Given the description of an element on the screen output the (x, y) to click on. 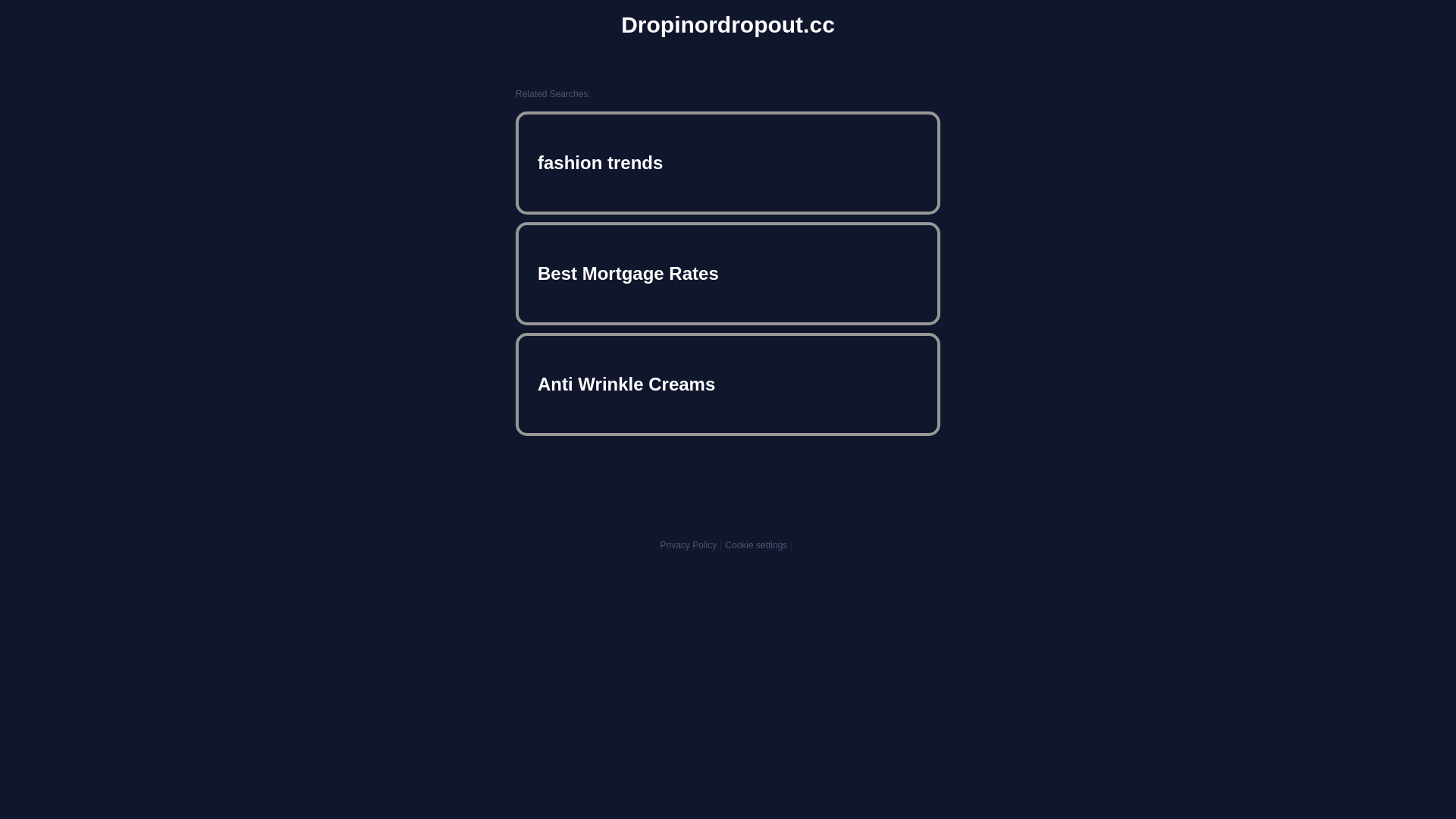
Cookie settings Element type: text (755, 544)
Privacy Policy Element type: text (687, 544)
Anti Wrinkle Creams Element type: text (727, 384)
Dropinordropout.cc Element type: text (727, 24)
fashion trends Element type: text (727, 162)
Best Mortgage Rates Element type: text (727, 273)
